Given the description of an element on the screen output the (x, y) to click on. 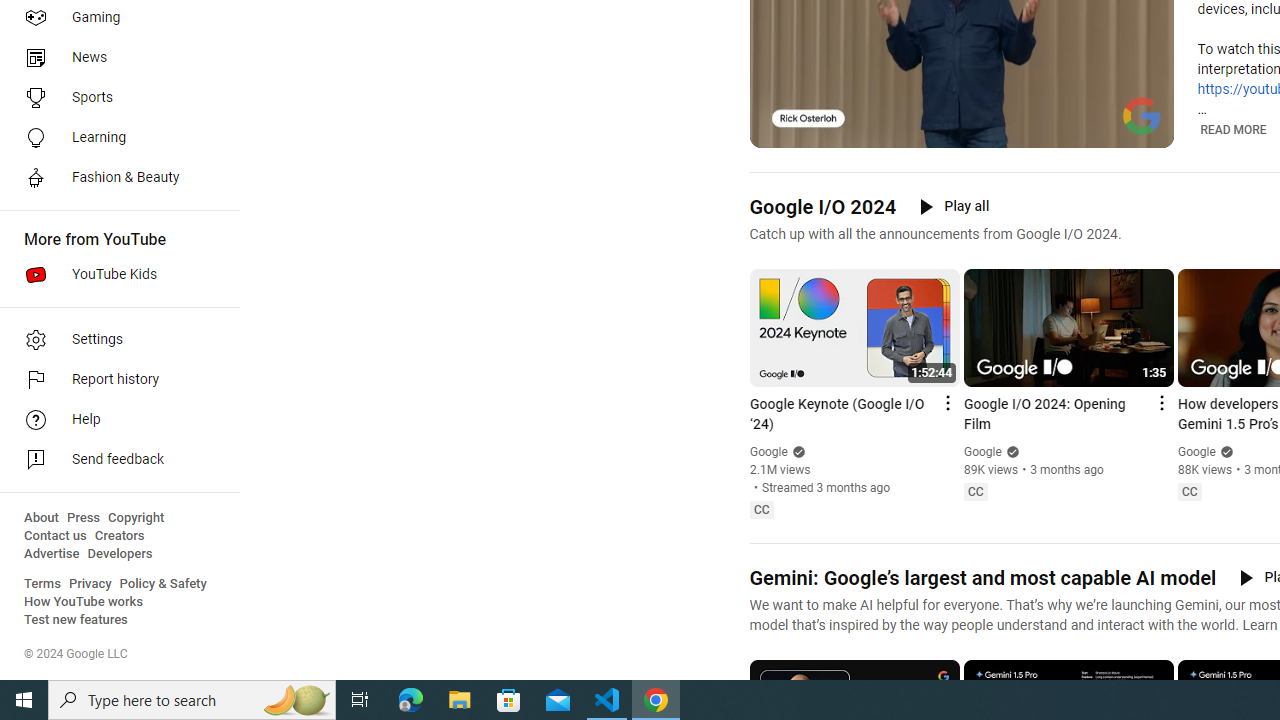
Subtitles/closed captions unavailable (1071, 130)
Report history (113, 380)
Copyright (136, 518)
Send feedback (113, 459)
Google I/O 2024 (822, 206)
News (113, 57)
Pause (k) (779, 130)
Mute (m) (815, 130)
Creators (118, 536)
Sports (113, 97)
